Given the description of an element on the screen output the (x, y) to click on. 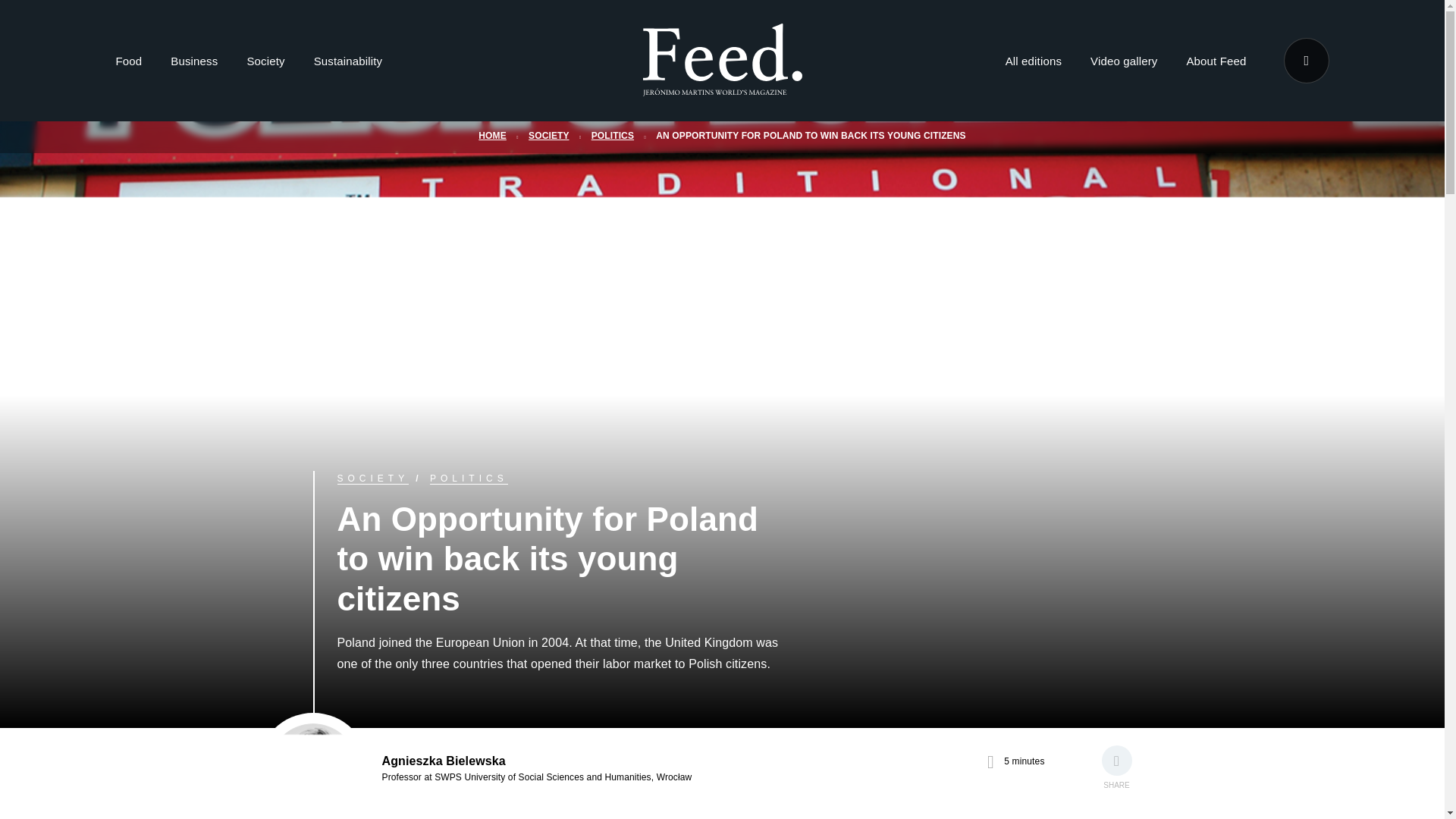
Society (264, 63)
Go to homepage (722, 86)
Business (193, 63)
About Feed (1216, 63)
Search (1304, 60)
Sustainability (347, 63)
Food (128, 63)
All editions (1033, 63)
Video gallery (1123, 63)
Homepage (722, 60)
